Given the description of an element on the screen output the (x, y) to click on. 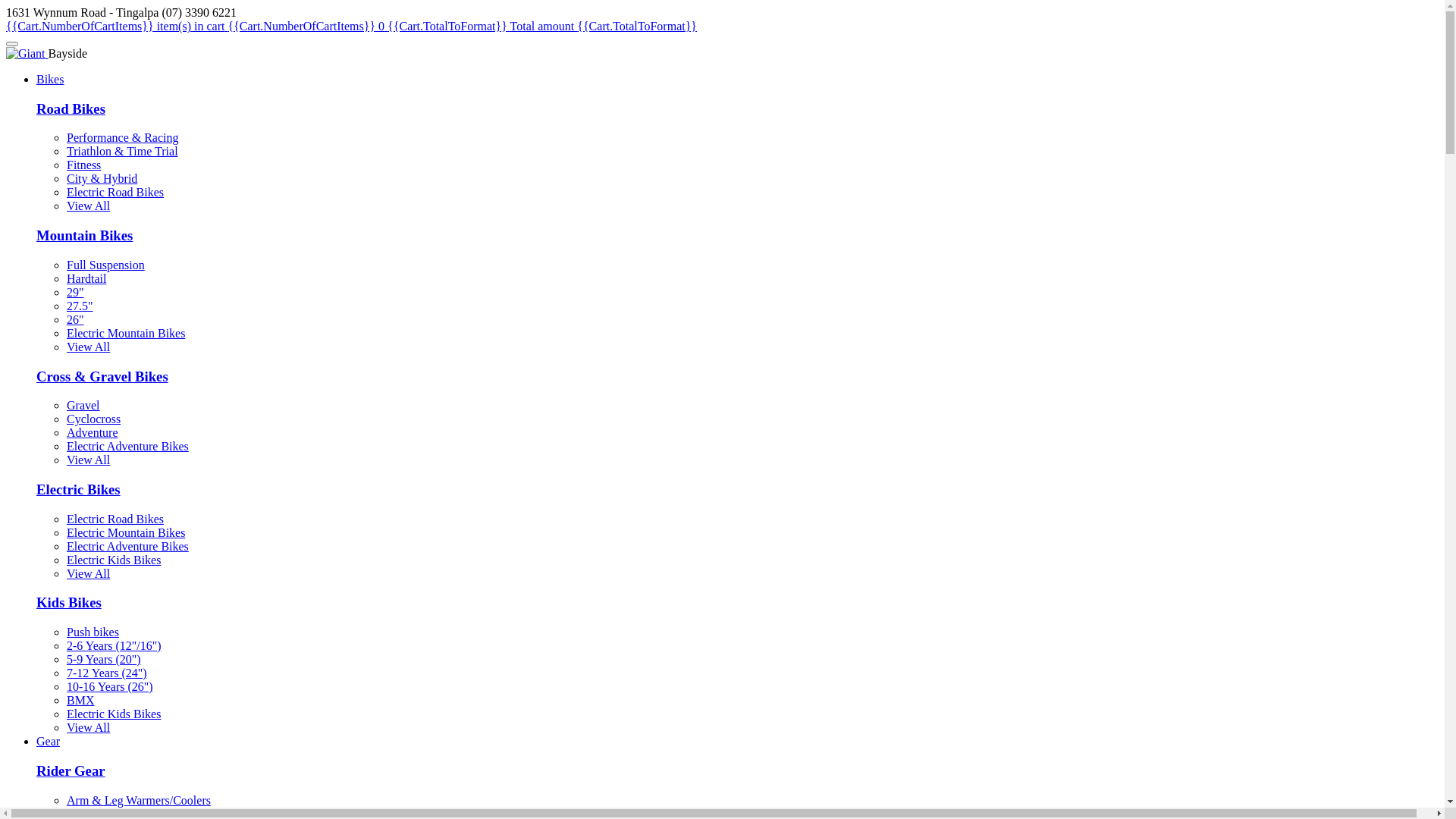
2-6 Years (12"/16") Element type: text (113, 645)
Electric Adventure Bikes Element type: text (127, 445)
Electric Adventure Bikes Element type: text (127, 545)
27.5" Element type: text (79, 305)
Bikes Element type: text (49, 78)
Gear Element type: text (47, 740)
BMX Element type: text (80, 699)
View All Element type: text (87, 459)
Triathlon & Time Trial Element type: text (122, 150)
Full Suspension Element type: text (105, 264)
Performance & Racing Element type: text (122, 137)
Electric Mountain Bikes Element type: text (125, 332)
10-16 Years (26") Element type: text (109, 686)
View All Element type: text (87, 346)
Electric Bikes Element type: text (78, 489)
Cyclocross Element type: text (93, 418)
Electric Mountain Bikes Element type: text (125, 532)
Fitness Element type: text (83, 164)
Mountain Bikes Element type: text (84, 235)
Gravel Element type: text (83, 404)
View All Element type: text (87, 205)
Cross & Gravel Bikes Element type: text (102, 376)
City & Hybrid Element type: text (101, 178)
View All Element type: text (87, 573)
7-12 Years (24") Element type: text (106, 672)
Arm & Leg Warmers/Coolers Element type: text (138, 799)
29" Element type: text (75, 291)
Electric Kids Bikes Element type: text (113, 713)
Electric Kids Bikes Element type: text (113, 559)
Adventure Element type: text (92, 432)
Rider Gear Element type: text (70, 770)
Push bikes Element type: text (92, 631)
Electric Road Bikes Element type: text (114, 191)
Road Bikes Element type: text (70, 108)
Electric Road Bikes Element type: text (114, 518)
Kids Bikes Element type: text (68, 602)
26" Element type: text (75, 319)
View All Element type: text (87, 727)
5-9 Years (20") Element type: text (103, 658)
Hardtail Element type: text (86, 278)
